Given the description of an element on the screen output the (x, y) to click on. 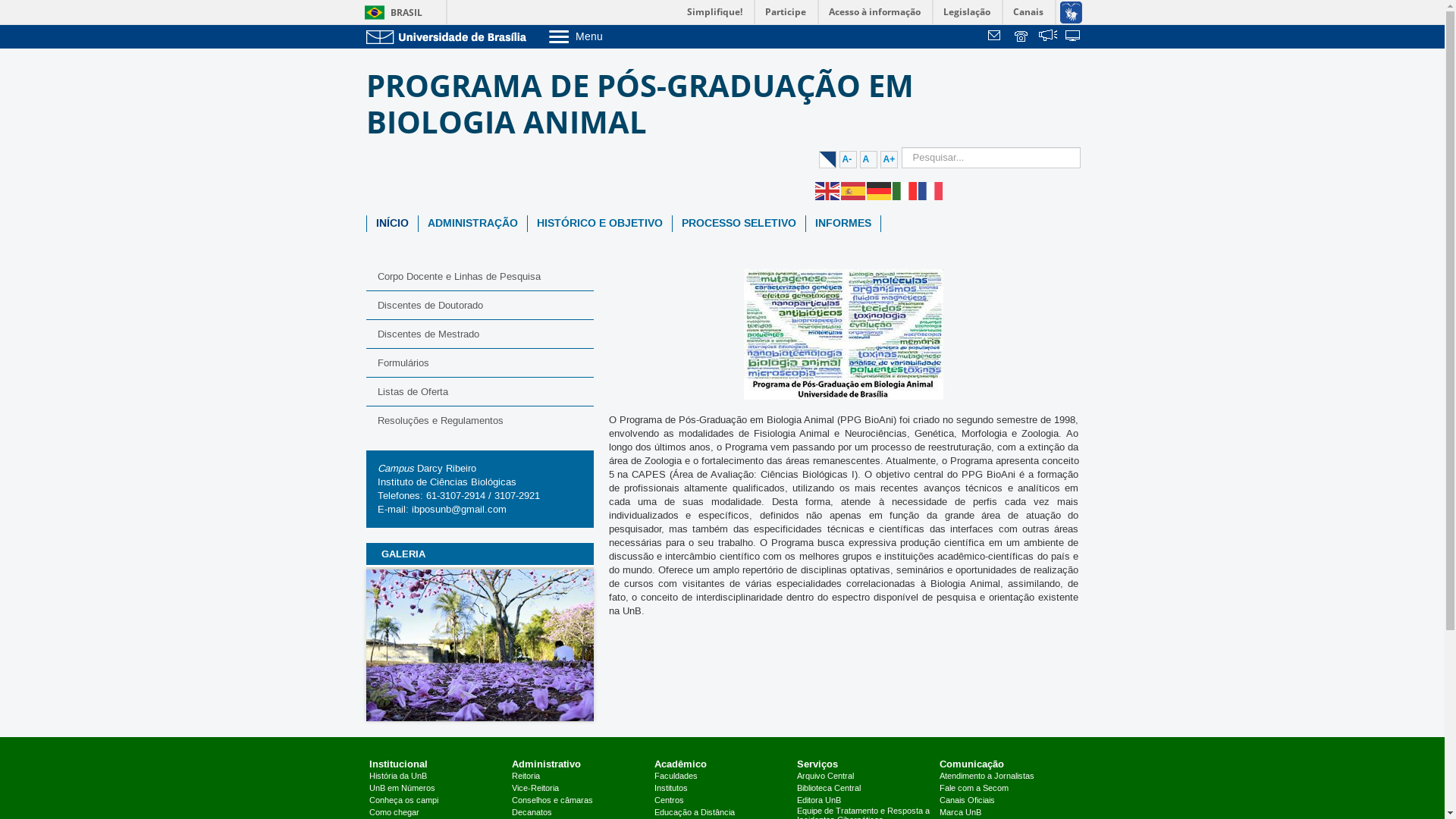
Discentes de Doutorado Element type: text (479, 305)
Corpo Docente e Linhas de Pesquisa Element type: text (479, 276)
Webmail Element type: hover (996, 37)
Marca UnB Element type: text (960, 812)
Reitoria Element type: text (525, 776)
Sistemas Element type: hover (1073, 37)
PROCESSO SELETIVO Element type: text (737, 223)
Fale com a Secom Element type: text (973, 788)
Italiano Element type: hover (904, 190)
Fala.BR Element type: hover (1047, 37)
Editora UnB Element type: text (818, 800)
Canais Oficiais Element type: text (966, 800)
Deutsch Element type: hover (878, 190)
Menu Element type: text (613, 35)
BRASIL Element type: text (389, 12)
Arquivo Central Element type: text (825, 776)
Decanatos Element type: text (531, 812)
A- Element type: text (847, 159)
Atendimento a Jornalistas Element type: text (986, 776)
Faculdades Element type: text (675, 776)
Centros Element type: text (669, 800)
INFORMES Element type: text (842, 223)
Biblioteca Central Element type: text (828, 788)
Discentes de Mestrado Element type: text (479, 333)
Telefones da UnB Element type: hover (1022, 37)
Vice-Reitoria Element type: text (534, 788)
Como chegar Element type: text (394, 812)
A Element type: text (868, 159)
  Element type: text (1047, 37)
English Element type: hover (827, 190)
Listas de Oferta Element type: text (479, 391)
A+ Element type: text (888, 159)
Ir para o Portal da UnB Element type: hover (448, 36)
  Element type: text (1022, 37)
  Element type: text (1073, 37)
  Element type: text (996, 37)
Institutos Element type: text (670, 788)
10 Anos da TV UnB - <p>Campus Darcy Ribeiro</p> Element type: hover (251, 646)
